Given the description of an element on the screen output the (x, y) to click on. 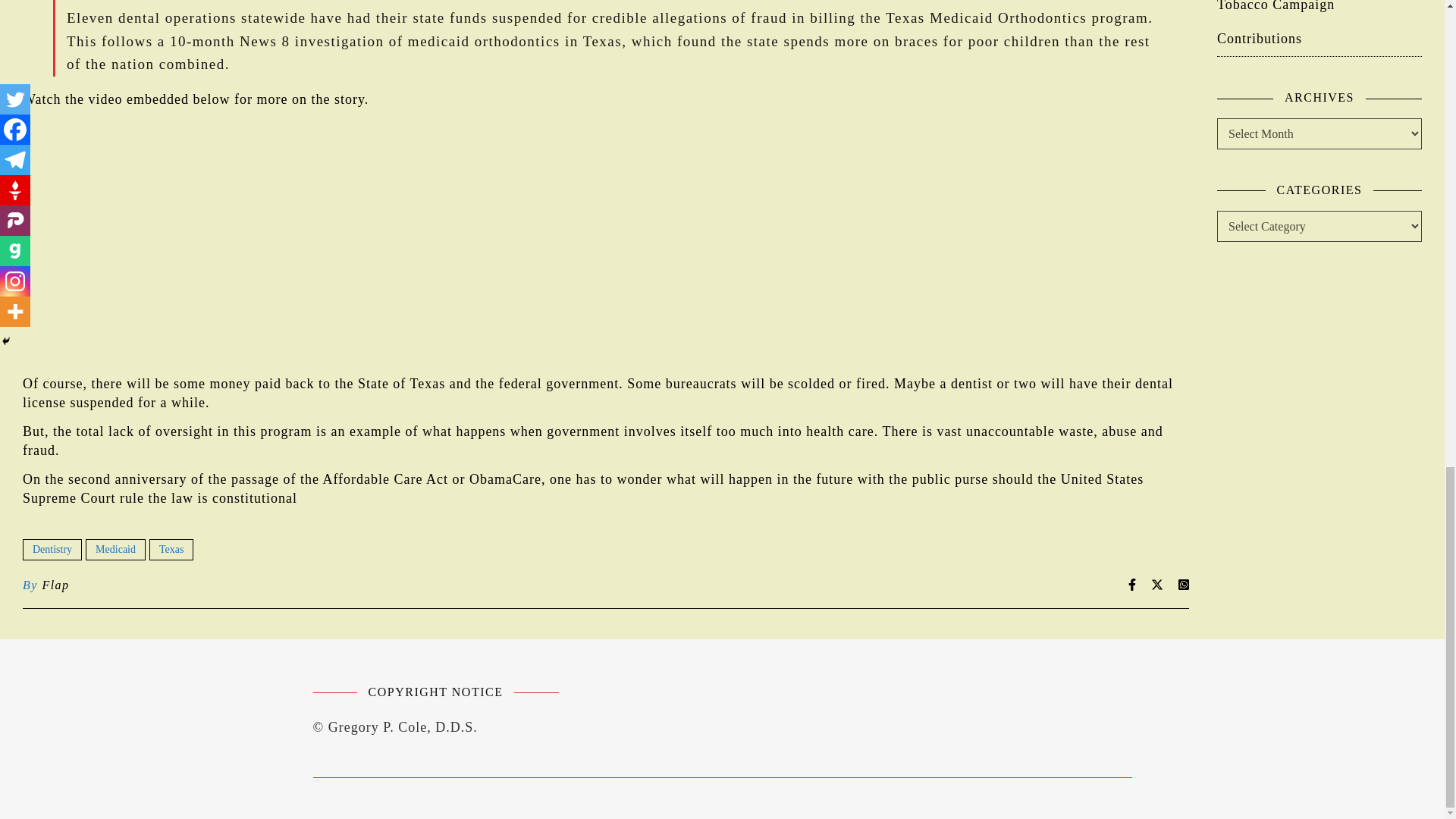
Texas (171, 548)
Flap (55, 584)
Medicaid (115, 548)
Dentistry (52, 548)
Posts by Flap (55, 584)
